Given the description of an element on the screen output the (x, y) to click on. 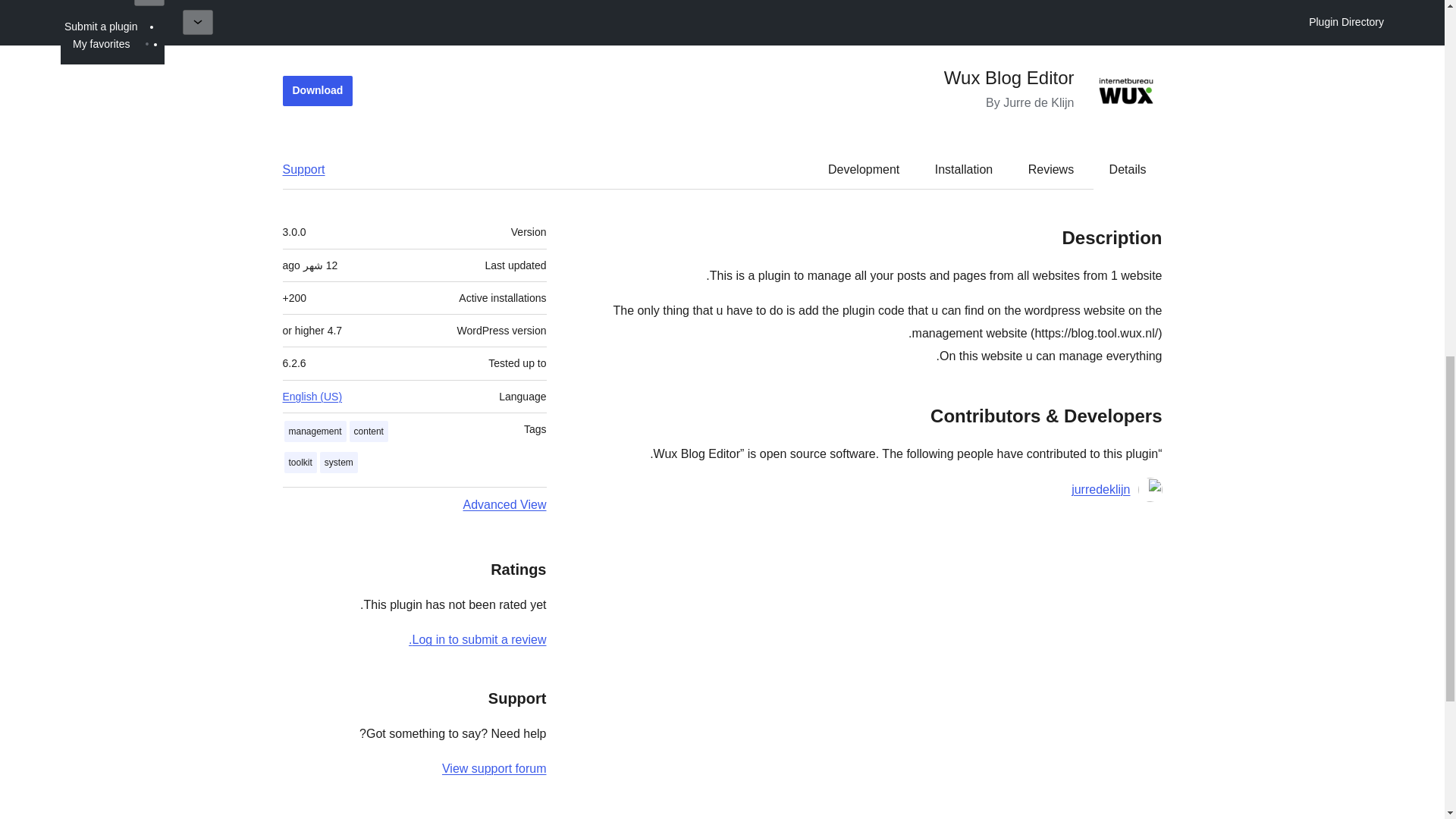
jurredeklijn (1100, 216)
WordPress.org (1318, 782)
management (314, 158)
content (368, 158)
Log in to WordPress.org (477, 366)
